Given the description of an element on the screen output the (x, y) to click on. 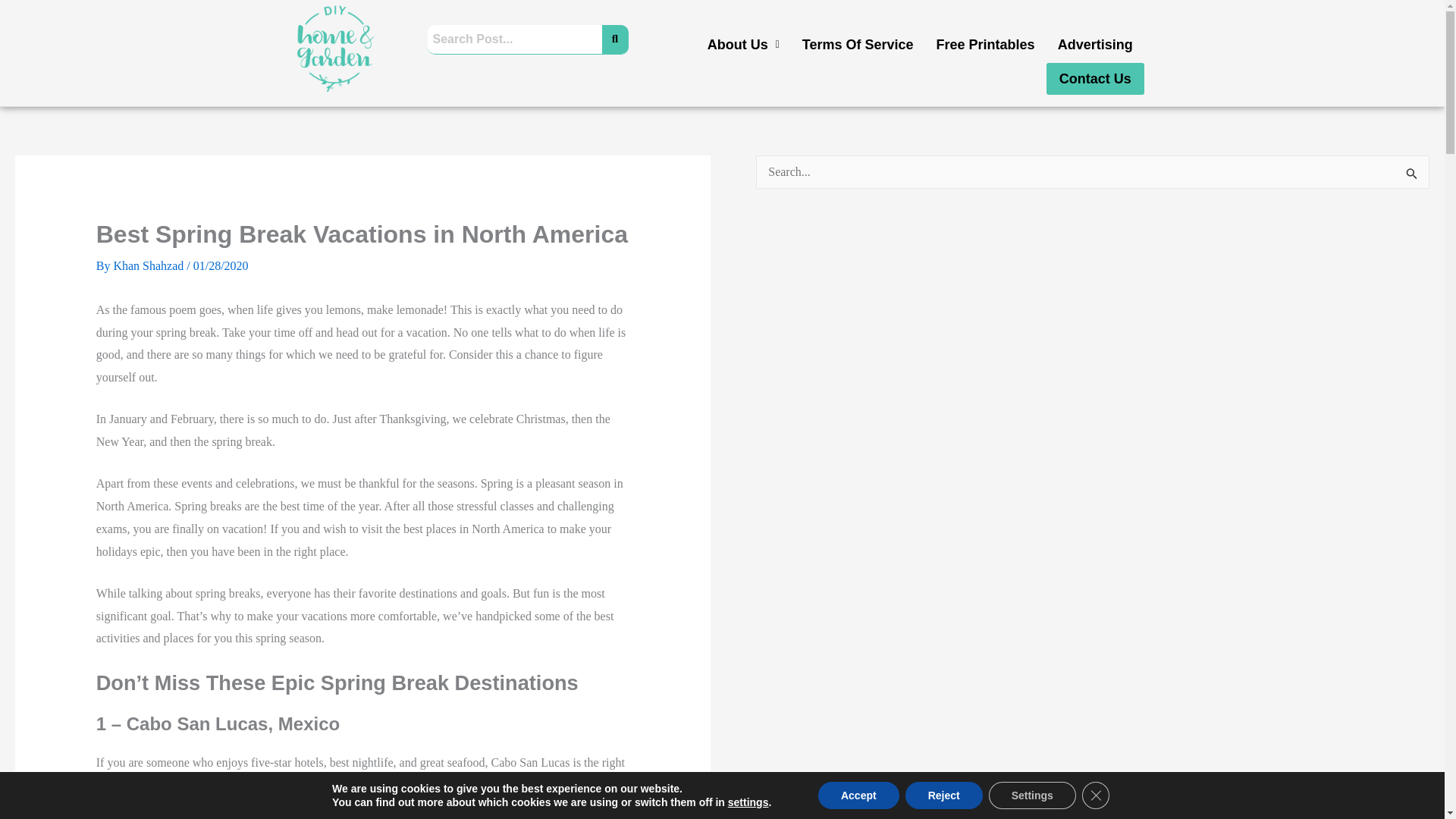
Khan Shahzad (149, 265)
View all posts by Khan Shahzad (149, 265)
Contact Us (1095, 79)
Terms Of Service (857, 44)
About Us (742, 44)
Search (515, 39)
Free Printables (985, 44)
Advertising (1095, 44)
